Given the description of an element on the screen output the (x, y) to click on. 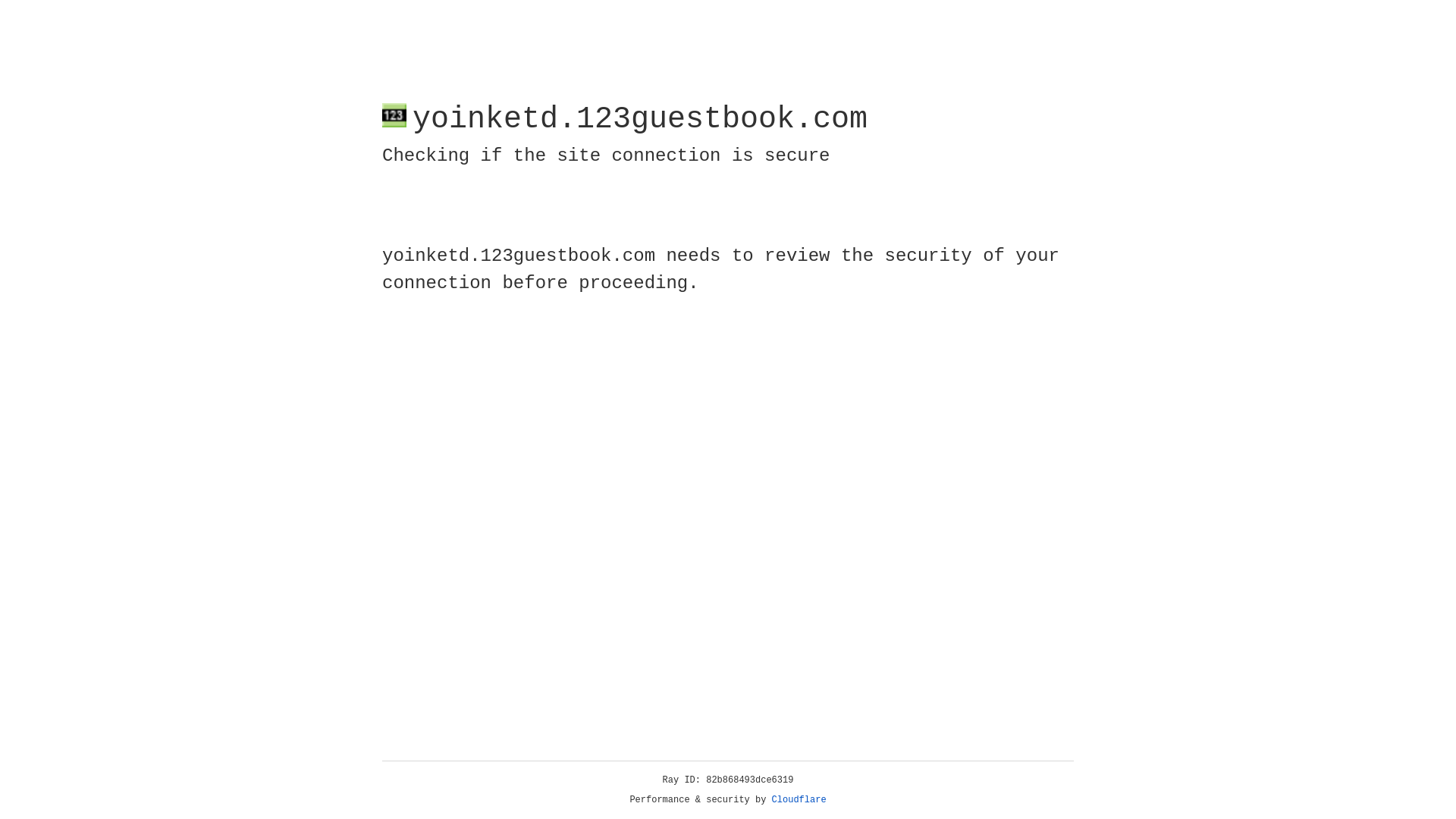
Cloudflare Element type: text (798, 799)
